Given the description of an element on the screen output the (x, y) to click on. 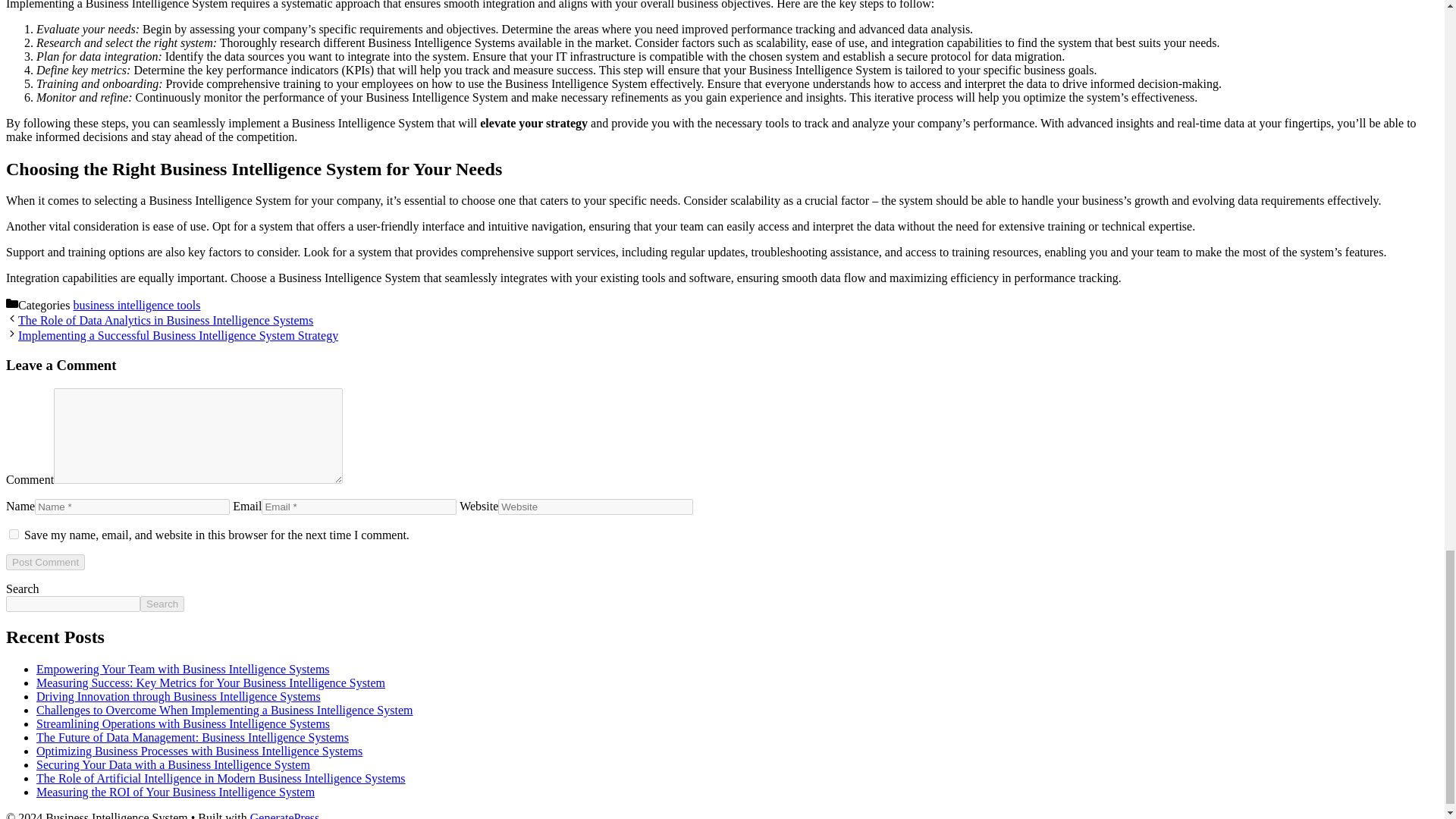
Search (161, 603)
The Future of Data Management: Business Intelligence Systems (192, 737)
Securing Your Data with a Business Intelligence System (173, 764)
Measuring the ROI of Your Business Intelligence System (175, 791)
business intelligence tools (136, 305)
Post Comment (44, 562)
Empowering Your Team with Business Intelligence Systems (183, 668)
yes (13, 533)
Streamlining Operations with Business Intelligence Systems (183, 723)
Driving Innovation through Business Intelligence Systems (178, 696)
Post Comment (44, 562)
